Given the description of an element on the screen output the (x, y) to click on. 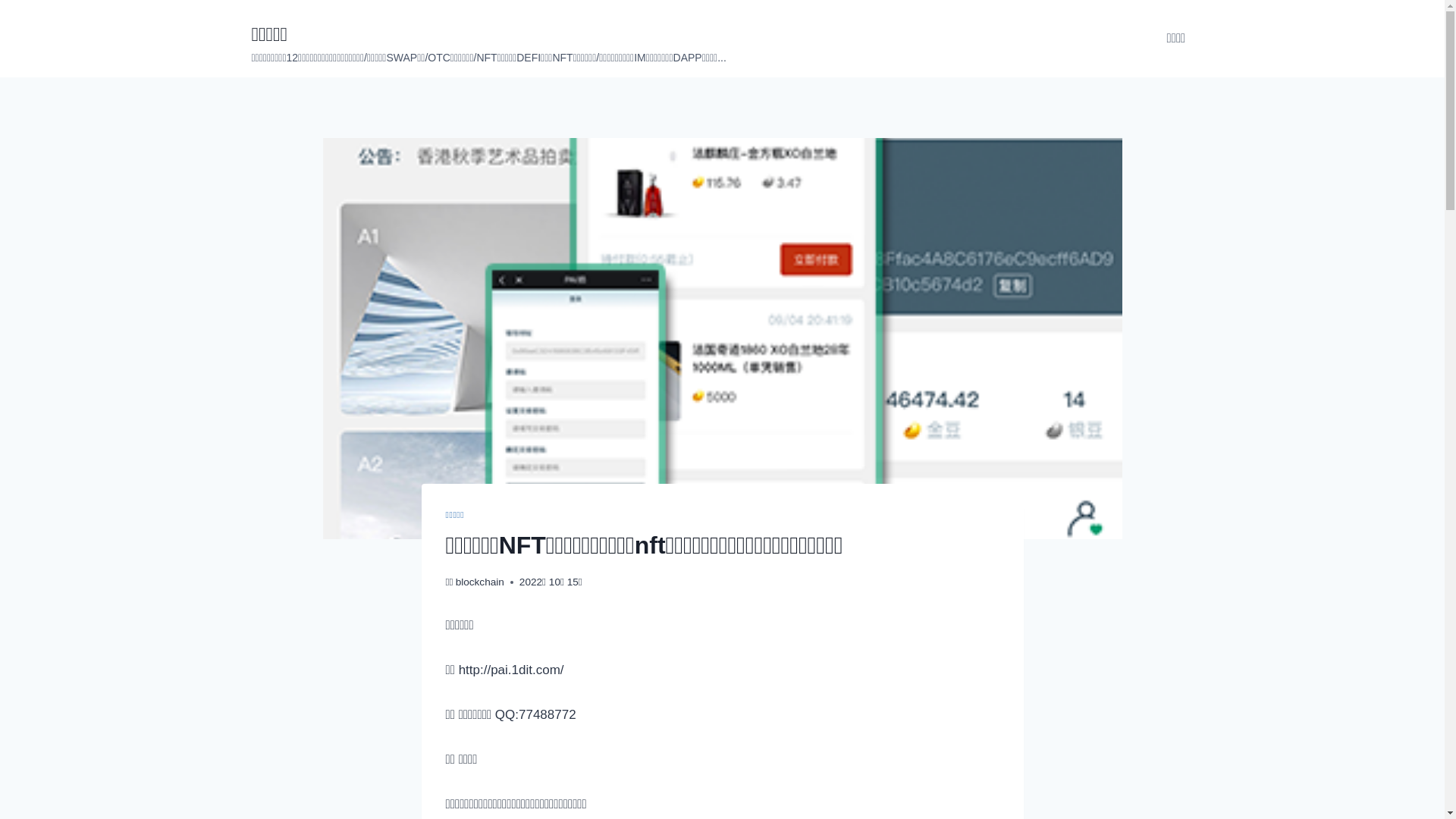
blockchain Element type: text (479, 581)
